Given the description of an element on the screen output the (x, y) to click on. 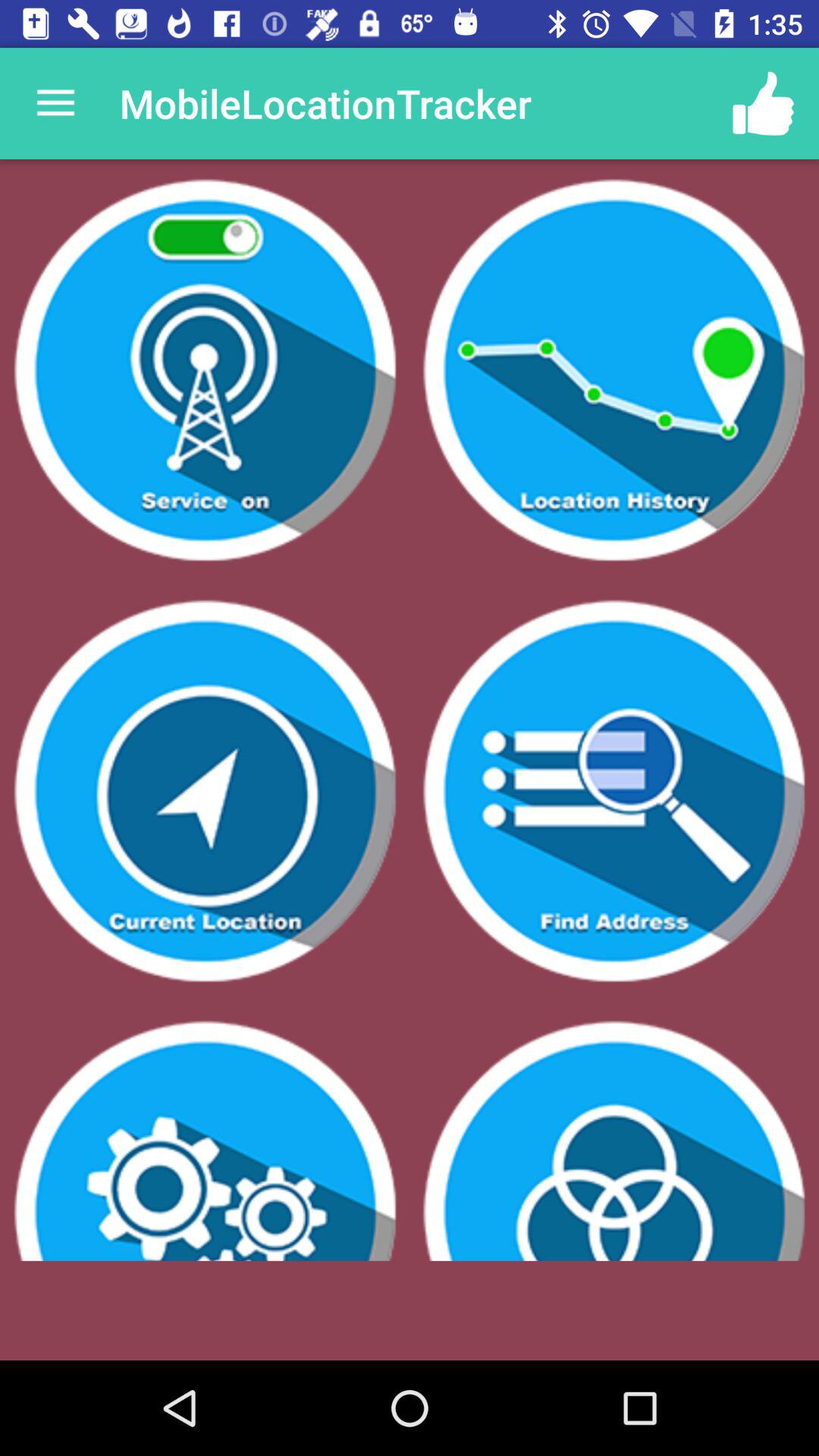
turn on the icon to the right of the mobilelocationtracker item (763, 103)
